Given the description of an element on the screen output the (x, y) to click on. 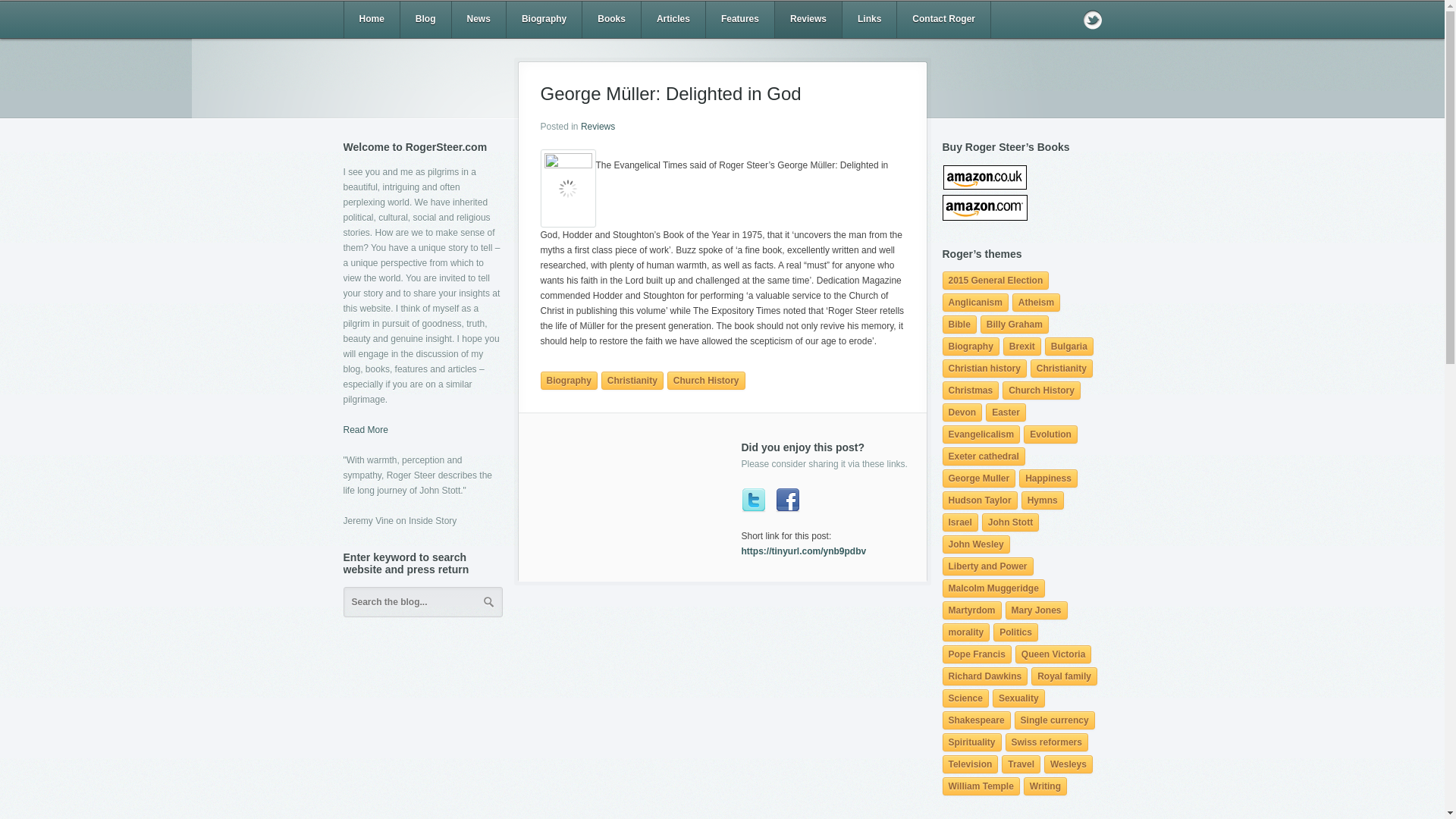
Articles (674, 19)
Happiness (1048, 478)
Liberty and Power (987, 566)
Search the blog... (422, 602)
John Stott (1010, 522)
Christianity (1061, 368)
Brexit (1022, 346)
Tweet about this post (753, 500)
Bible (958, 324)
Atheism (1035, 302)
